Given the description of an element on the screen output the (x, y) to click on. 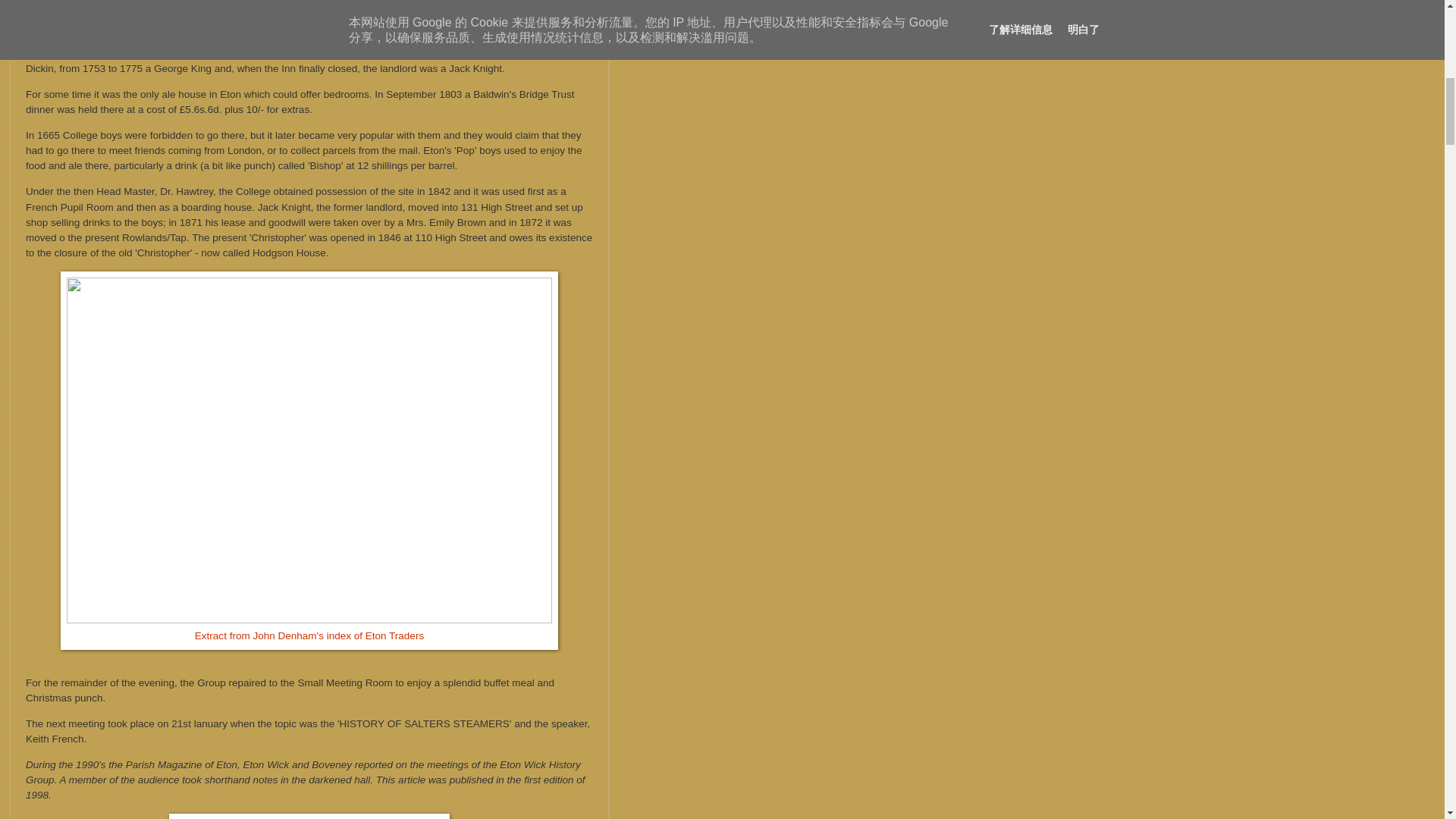
Extract from John Denham's index of Eton Traders (309, 635)
